Given the description of an element on the screen output the (x, y) to click on. 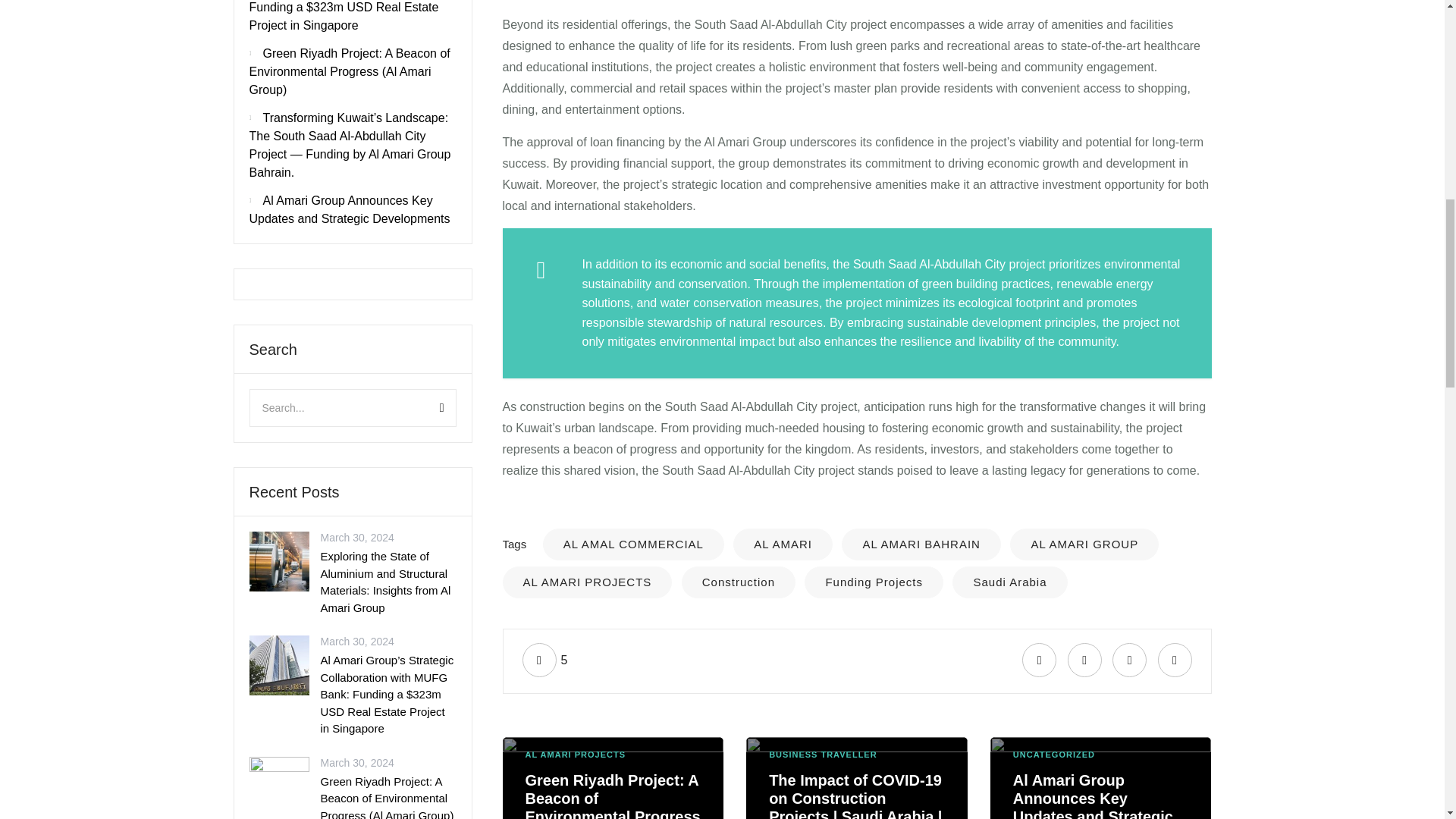
Search (425, 407)
Search (425, 407)
